Given the description of an element on the screen output the (x, y) to click on. 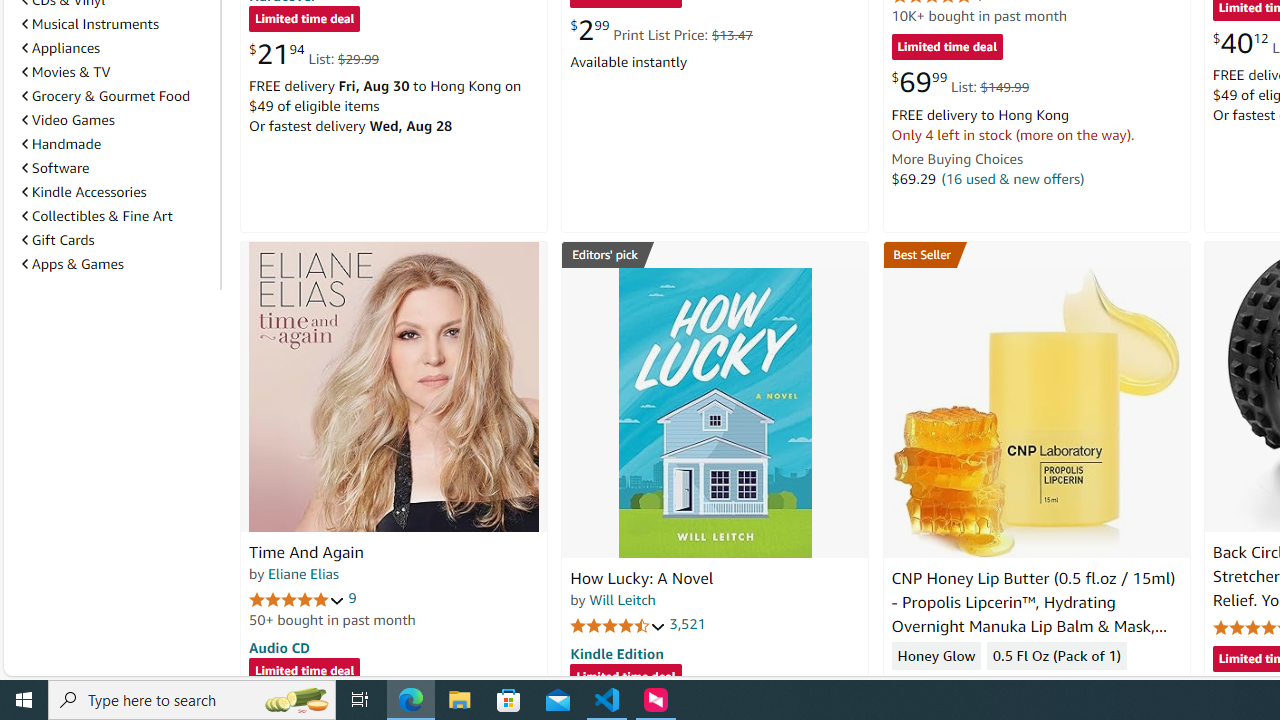
9 (352, 597)
Will Leitch (621, 599)
Time And Again (393, 386)
Limited time deal (625, 678)
$21.94 List: $29.99 (314, 54)
Gift Cards (117, 239)
Apps & Games (117, 264)
Gift Cards (57, 240)
4.3 out of 5 stars (939, 685)
Grocery & Gourmet Food (117, 95)
How Lucky: A Novel (714, 412)
Handmade (61, 143)
Software (117, 167)
3,521 (687, 624)
Collectibles & Fine Art (117, 215)
